Given the description of an element on the screen output the (x, y) to click on. 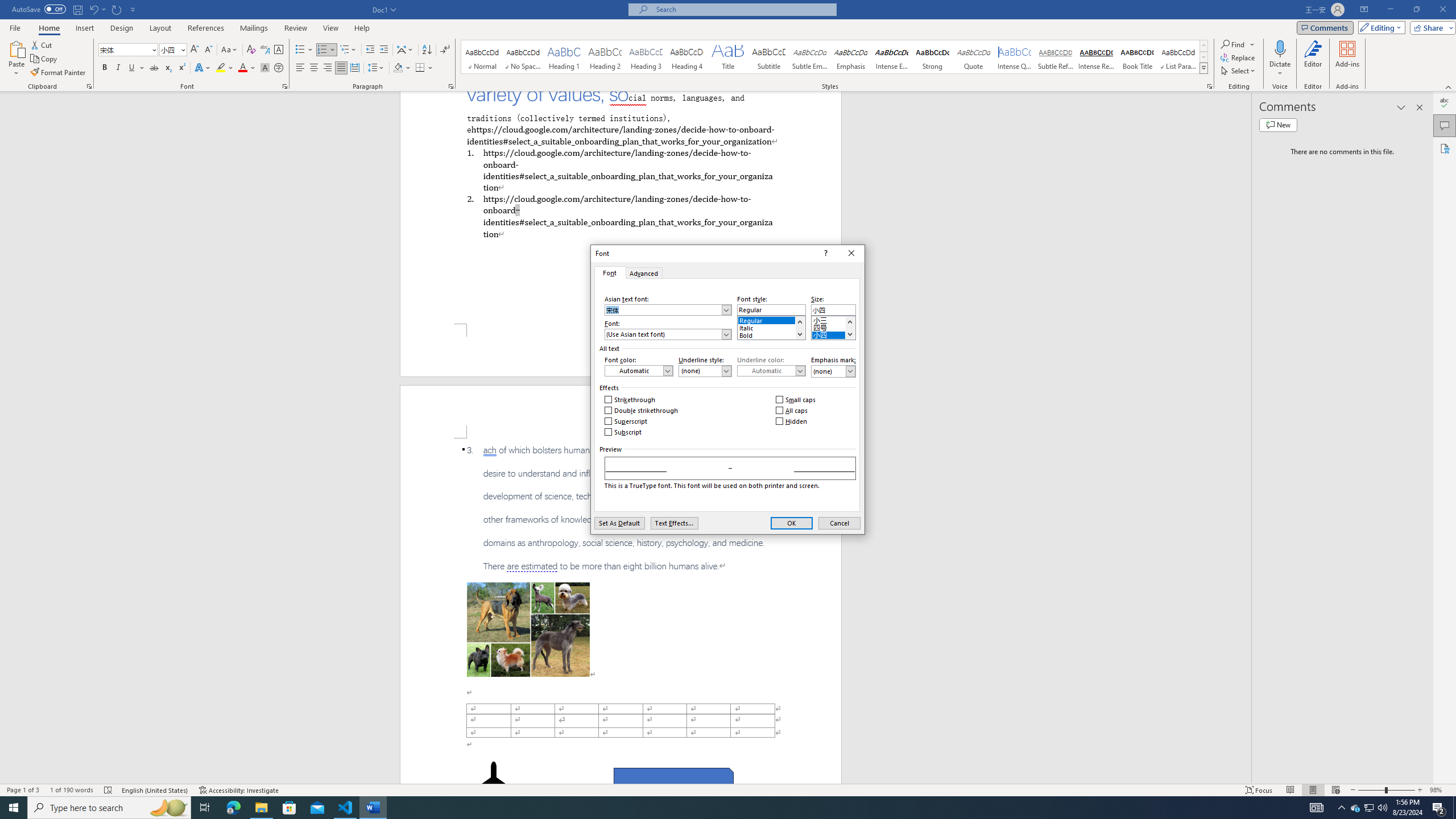
RichEdit Control (833, 309)
Action Center, 2 new notifications (1439, 807)
All caps (792, 410)
Zoom In (1420, 790)
Comments (1444, 125)
Intense Emphasis (891, 56)
Small caps (796, 399)
Task View (204, 807)
Emphasis mark: (833, 371)
Share (1430, 27)
Class: MsoCommandBar (728, 789)
Sort... (426, 49)
Heading 1 (564, 56)
Class: NetUIImage (1204, 68)
Font... (285, 85)
